Given the description of an element on the screen output the (x, y) to click on. 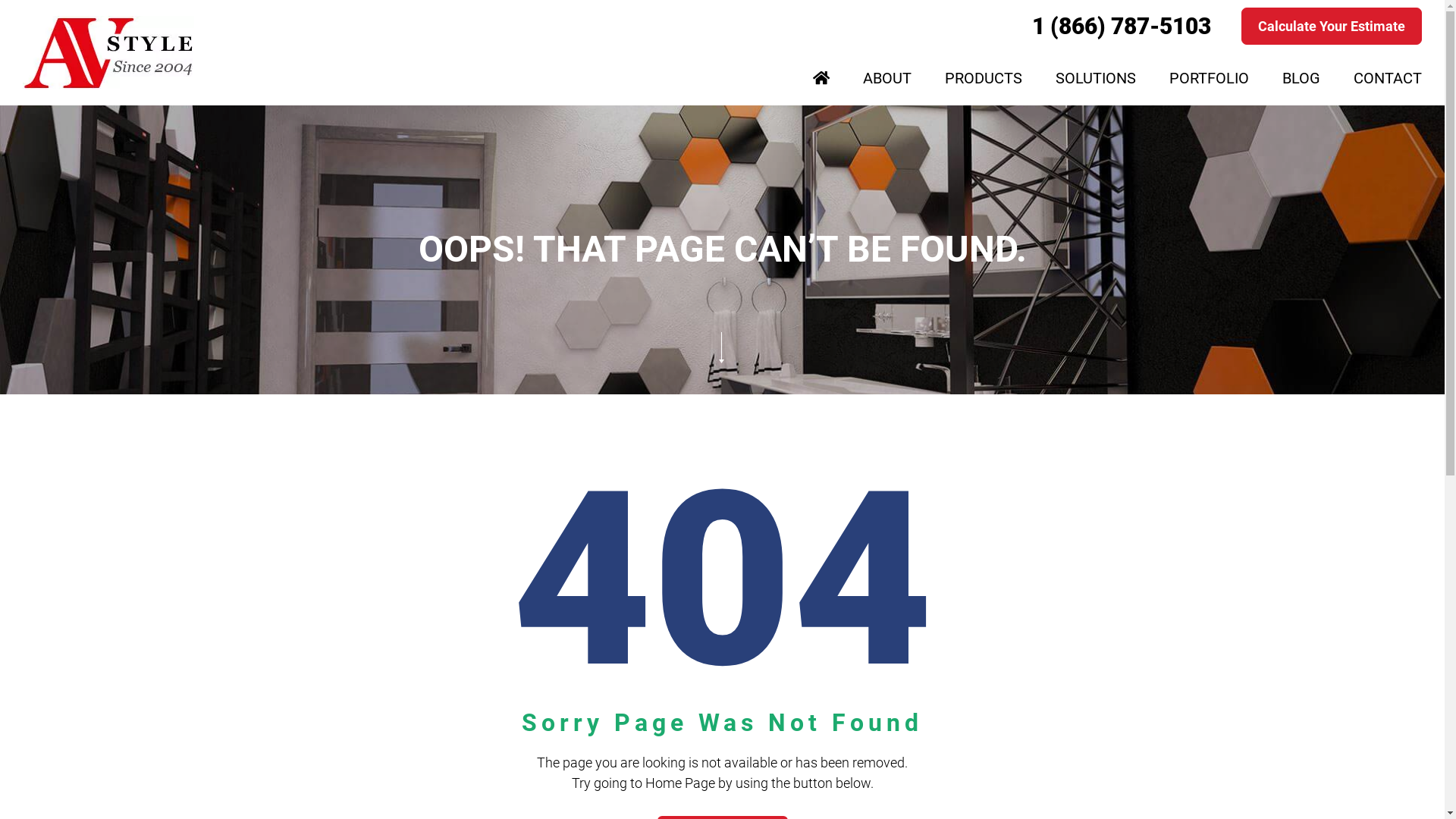
PORTFOLIO Element type: text (1208, 78)
1 (866) 787-5103 Element type: text (1121, 25)
CONTACT Element type: text (1387, 78)
Calculate Your Estimate Element type: text (1331, 25)
ABOUT Element type: text (886, 78)
BLOG Element type: text (1301, 78)
SOLUTIONS Element type: text (1095, 78)
PRODUCTS Element type: text (983, 78)
